Given the description of an element on the screen output the (x, y) to click on. 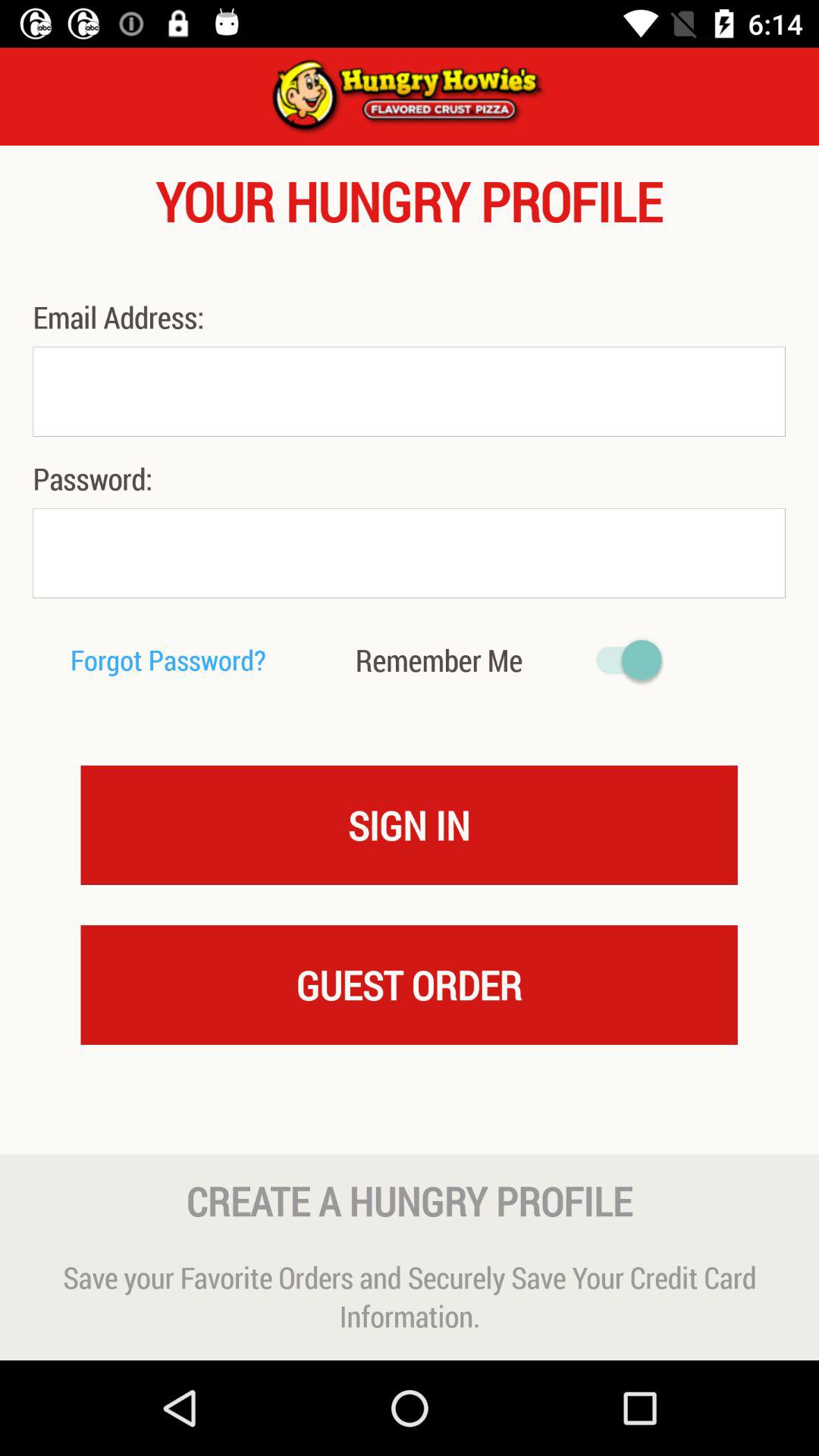
turn off item above create a hungry icon (409, 1124)
